Given the description of an element on the screen output the (x, y) to click on. 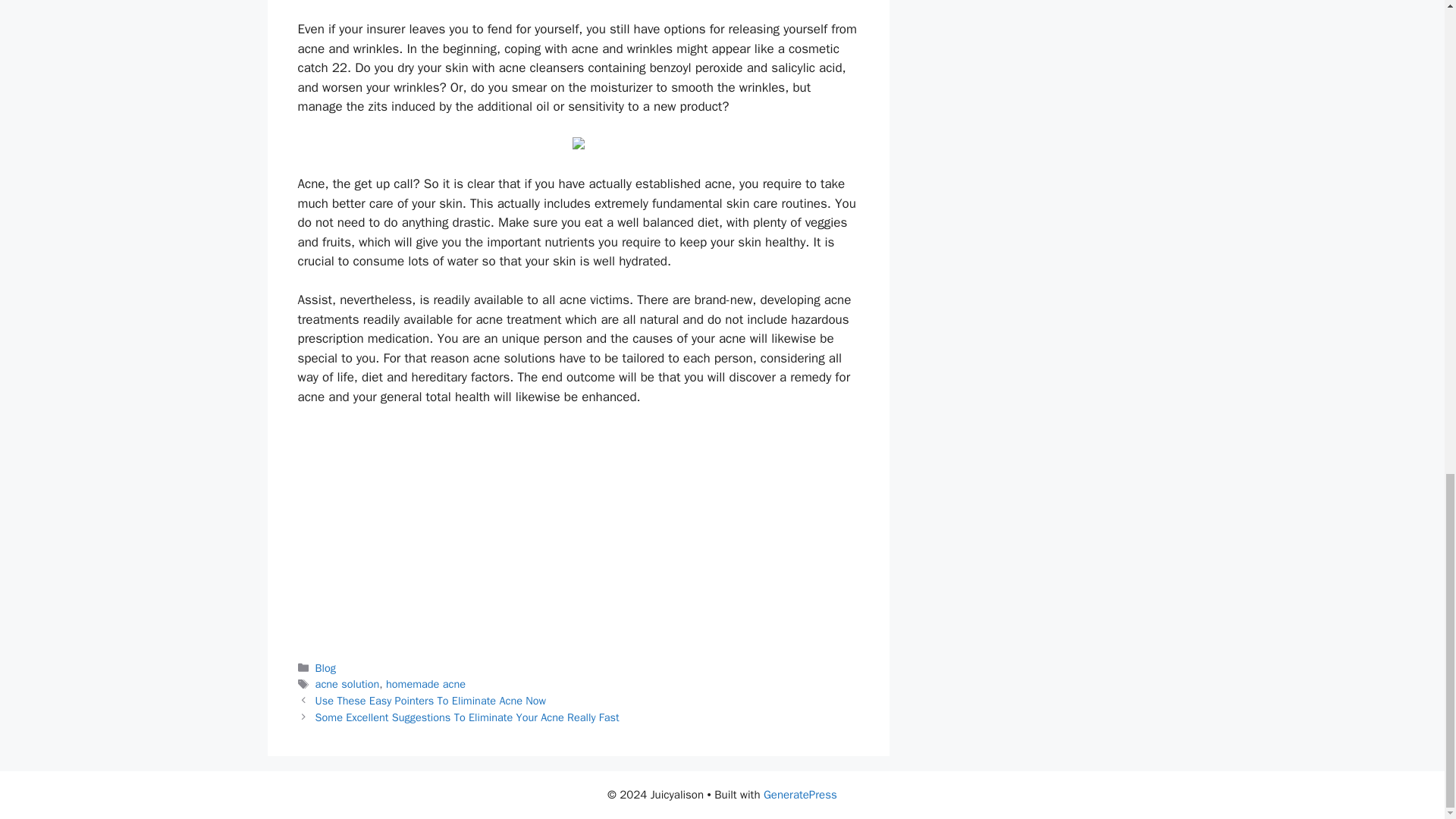
Advertisement (577, 6)
Advertisement (576, 531)
